Given the description of an element on the screen output the (x, y) to click on. 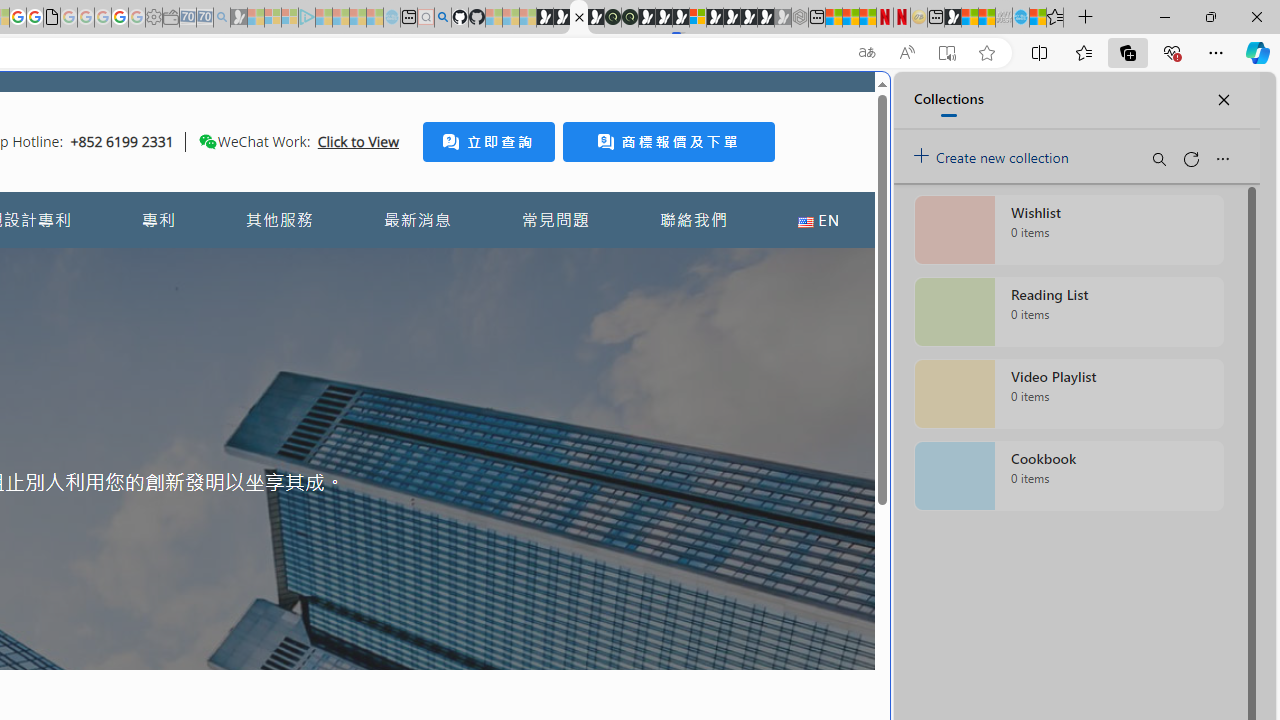
Close split screen (844, 102)
Search or enter web address (343, 191)
Frequently visited (418, 265)
Play Zoo Boom in your browser | Games from Microsoft Start (561, 17)
